Given the description of an element on the screen output the (x, y) to click on. 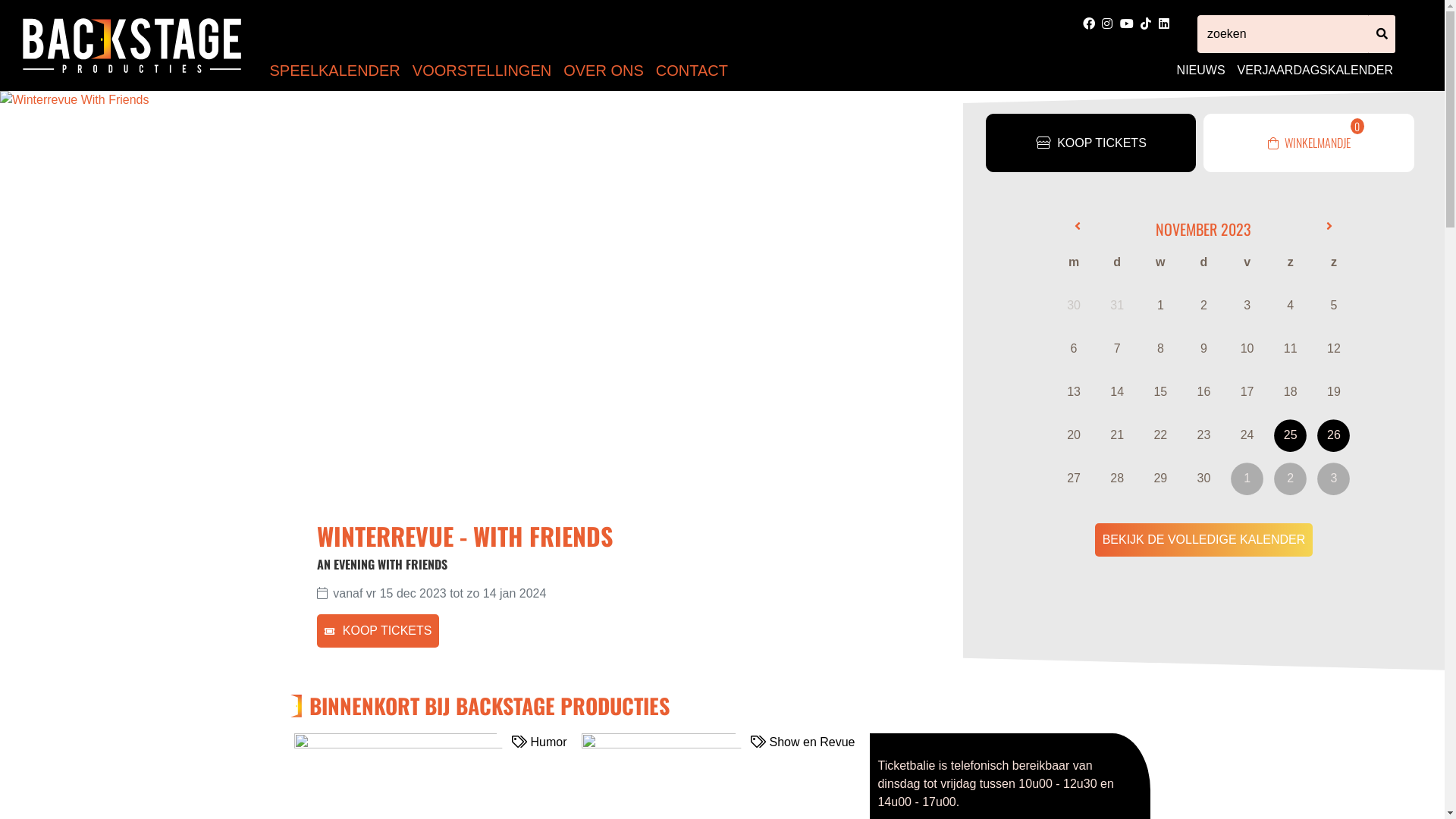
KOOP TICKETS Element type: text (377, 630)
WINTERREVUE - WITH FRIENDS Element type: text (633, 535)
Winterrevue With Friends Element type: hover (475, 302)
KOOP TICKETS Element type: text (1090, 142)
WINKELMANDJE
0 Element type: text (1308, 142)
CONTACT Element type: text (691, 70)
VOORSTELLINGEN Element type: text (481, 70)
VERJAARDAGSKALENDER Element type: text (1315, 69)
SPEELKALENDER Element type: text (334, 70)
OVER ONS Element type: text (603, 70)
Facebook Element type: hover (1090, 22)
ZOEKEN Element type: text (1381, 34)
Instagram Element type: hover (1108, 22)
LinkedIn Element type: hover (1163, 22)
BEKIJK DE VOLLEDIGE KALENDER Element type: text (1204, 539)
Overslaan en naar de inhoud gaan Element type: text (721, 1)
Youtube Element type: hover (1128, 22)
Tik Tok Element type: hover (1147, 22)
NIEUWS Element type: text (1200, 69)
